Given the description of an element on the screen output the (x, y) to click on. 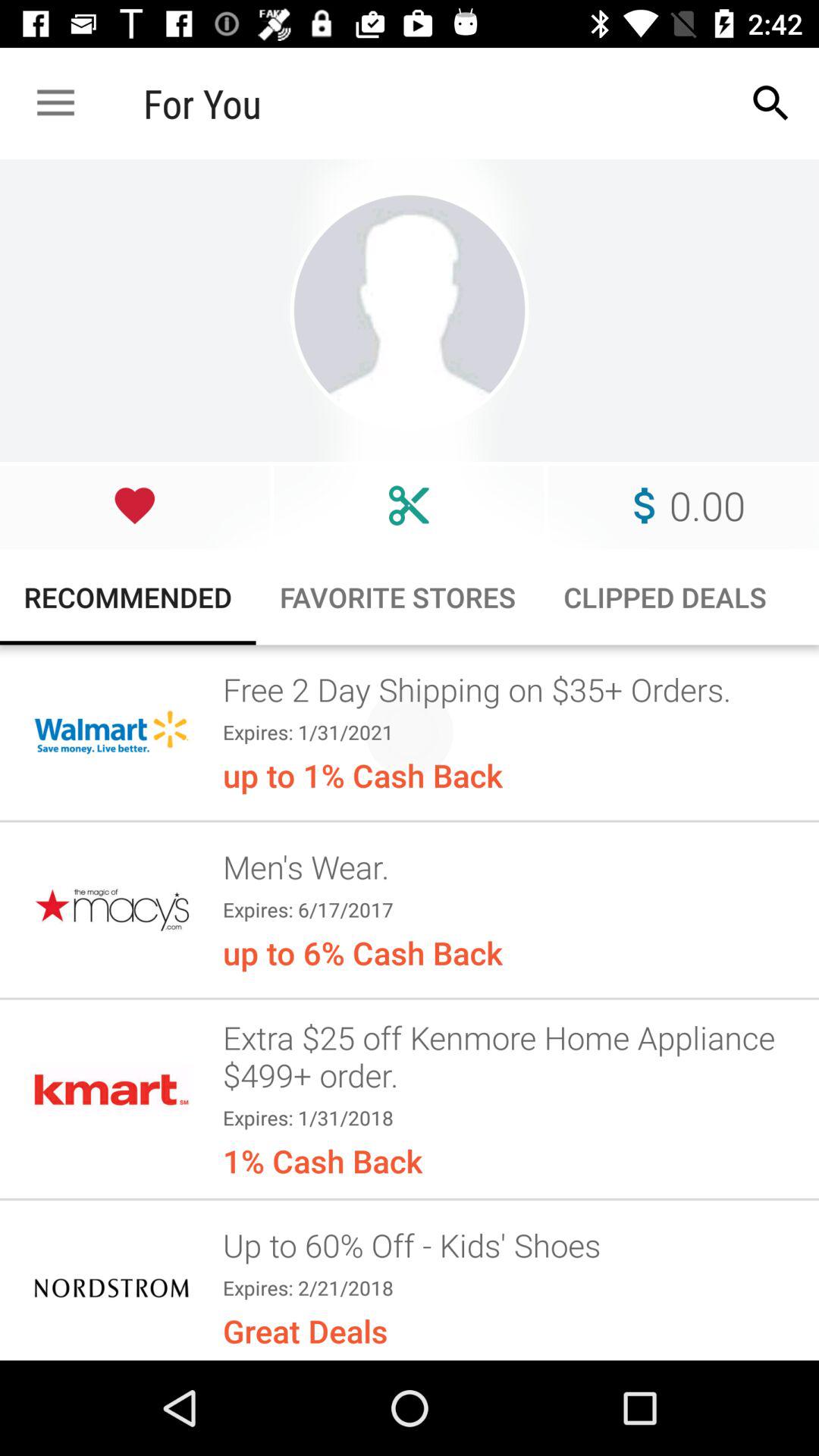
tap item next to the for you icon (771, 103)
